Given the description of an element on the screen output the (x, y) to click on. 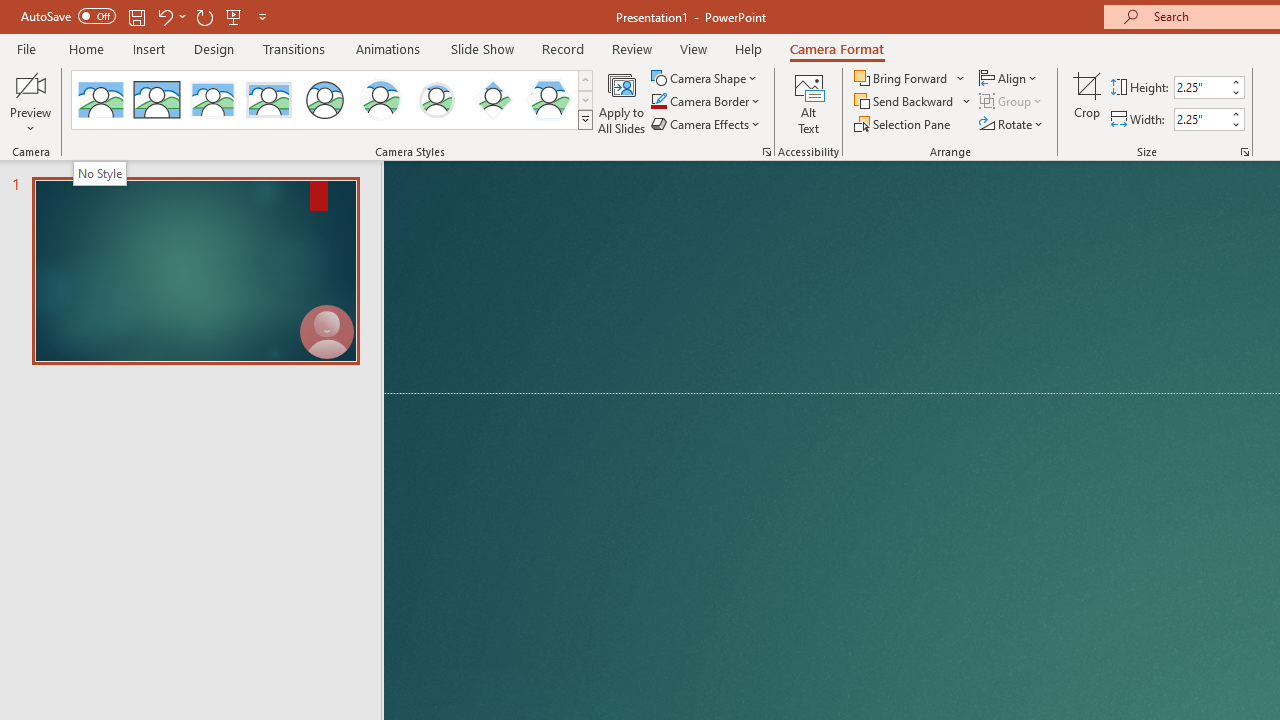
Cameo Height (1201, 87)
Align (1009, 78)
Center Shadow Rectangle (212, 100)
Center Shadow Circle (381, 100)
Simple Frame Circle (324, 100)
Rotate (1012, 124)
Selection Pane... (904, 124)
Size and Position... (1244, 151)
Camera Border Blue, Accent 1 (658, 101)
No Style (99, 173)
